Given the description of an element on the screen output the (x, y) to click on. 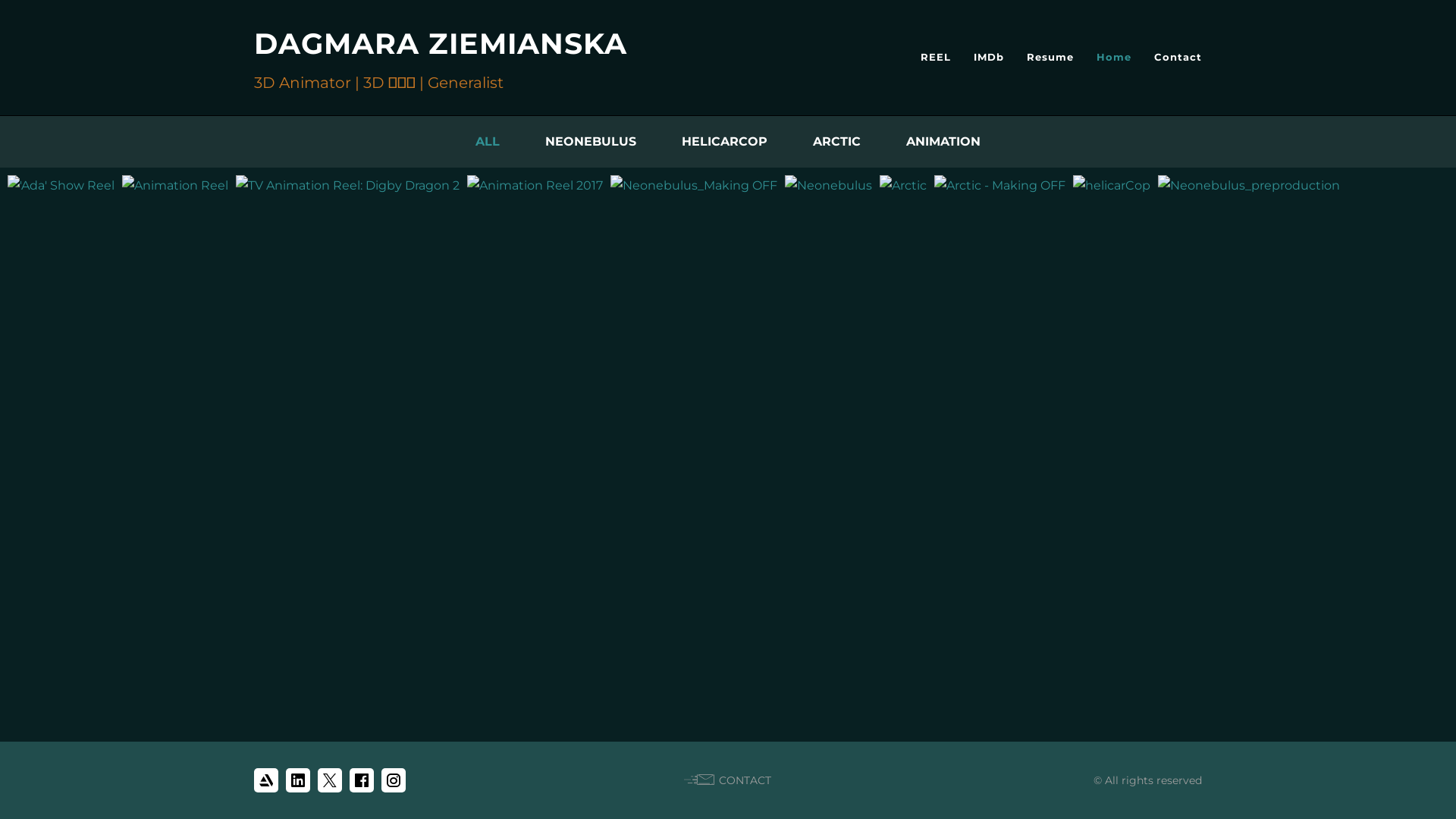
IMDb Element type: text (988, 56)
DAGMARA ZIEMIANSKA Element type: text (440, 43)
NEONEBULUS Element type: text (590, 140)
Contact Element type: text (1177, 56)
REEL Element type: text (935, 56)
CONTACT Element type: text (727, 780)
Resume Element type: text (1049, 56)
ARCTIC Element type: text (836, 140)
HELICARCOP Element type: text (724, 140)
Home Element type: text (1113, 56)
ANIMATION Element type: text (943, 140)
ALL Element type: text (487, 140)
